Given the description of an element on the screen output the (x, y) to click on. 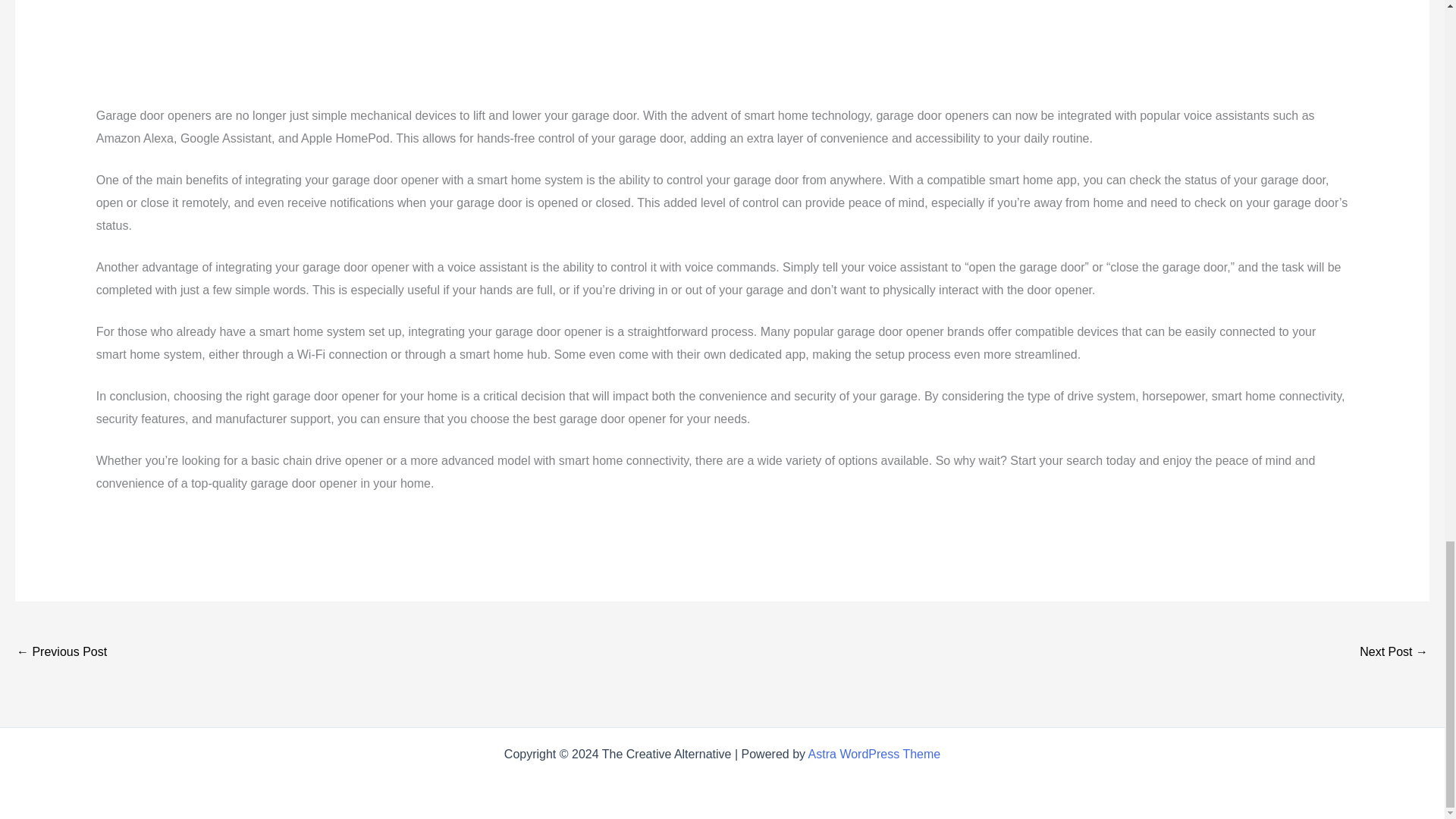
Astra WordPress Theme (874, 753)
Choosing a Home Theater Receiver by Denon (61, 652)
